Given the description of an element on the screen output the (x, y) to click on. 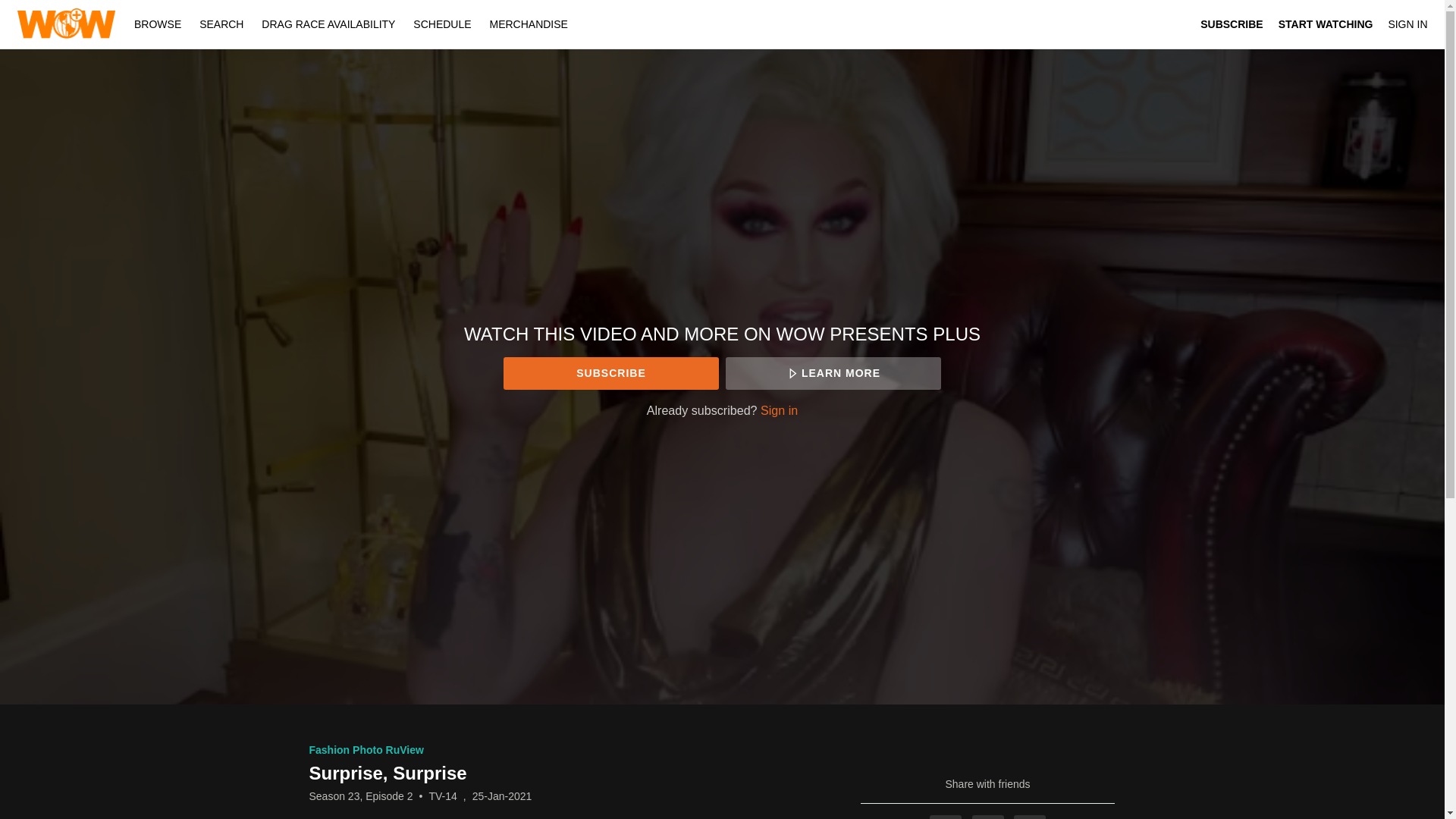
Sign in (778, 409)
Email (1029, 816)
LEARN MORE (832, 373)
Facebook (945, 816)
Skip to main content (48, 7)
SCHEDULE (442, 24)
Twitter (988, 816)
SEARCH (222, 24)
MERCHANDISE (528, 24)
TV-14 (442, 795)
Fashion Photo RuView (365, 749)
DRAG RACE AVAILABILITY (328, 24)
25-Jan-2021 (501, 795)
SUBSCRIBE (610, 373)
BROWSE (159, 24)
